Given the description of an element on the screen output the (x, y) to click on. 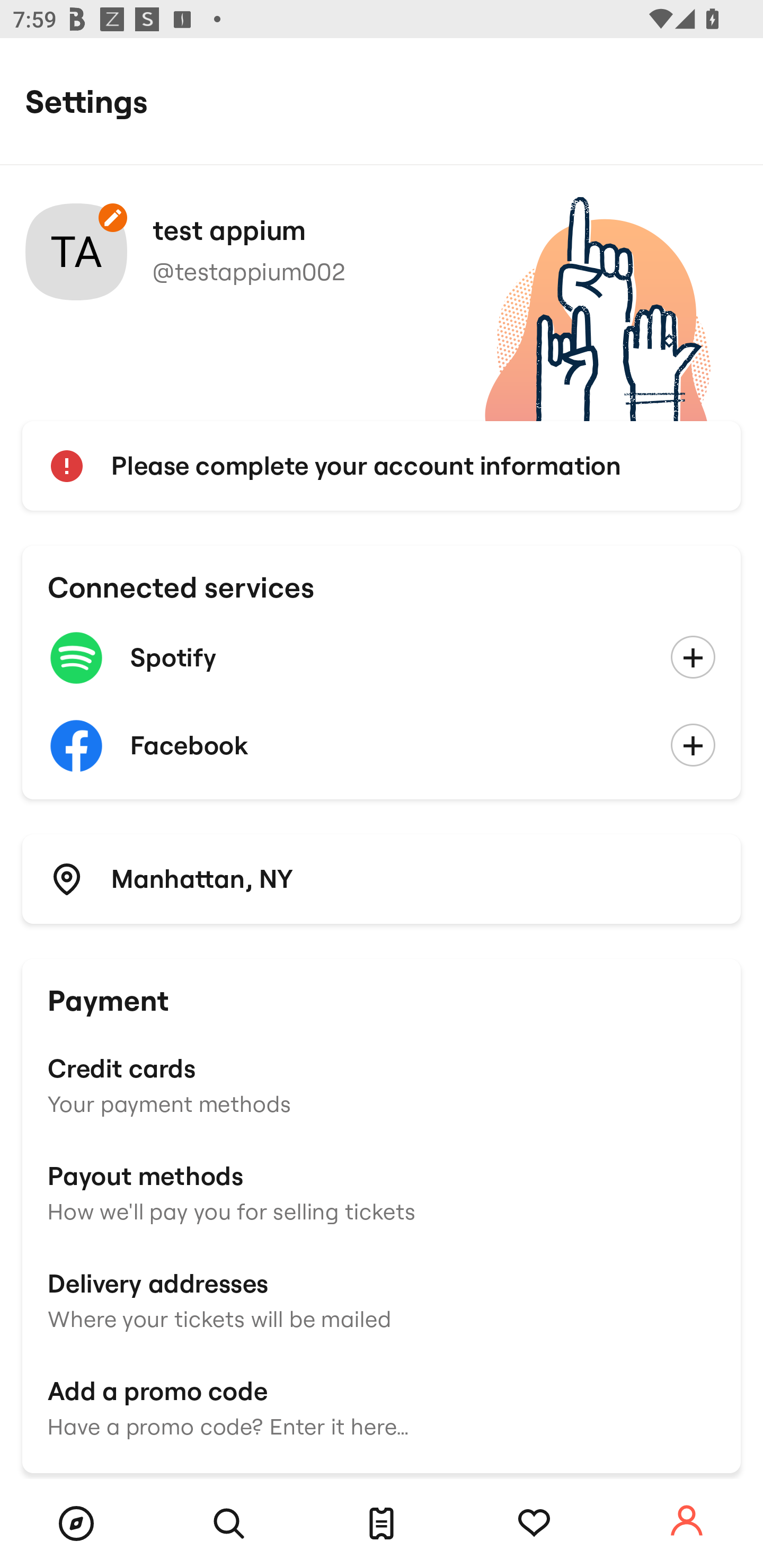
Your account photo (76, 252)
Please complete your account information (381, 466)
Spotify (381, 658)
Facebook (381, 746)
Manhattan, NY (381, 878)
Credit cards Your payment methods (381, 1084)
Add a promo code Have a promo code? Enter it here… (381, 1406)
Browse (76, 1523)
Search (228, 1523)
Tickets (381, 1523)
Tracking (533, 1523)
Account (686, 1521)
